Given the description of an element on the screen output the (x, y) to click on. 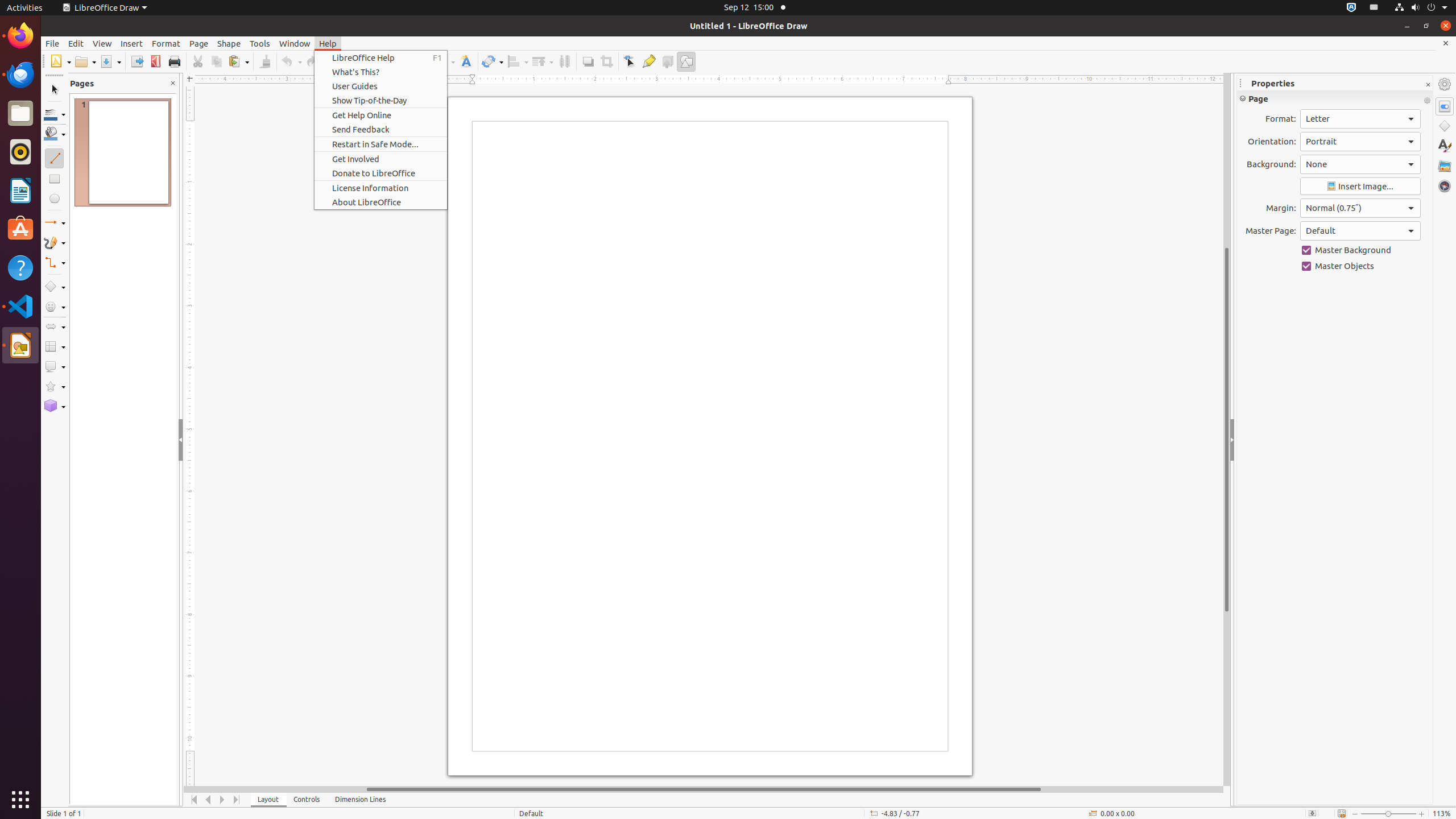
Show Applications Element type: toggle-button (20, 799)
Files Element type: push-button (20, 113)
Show Tip-of-the-Day Element type: menu-item (380, 100)
Layout Element type: page-tab (268, 799)
